Given the description of an element on the screen output the (x, y) to click on. 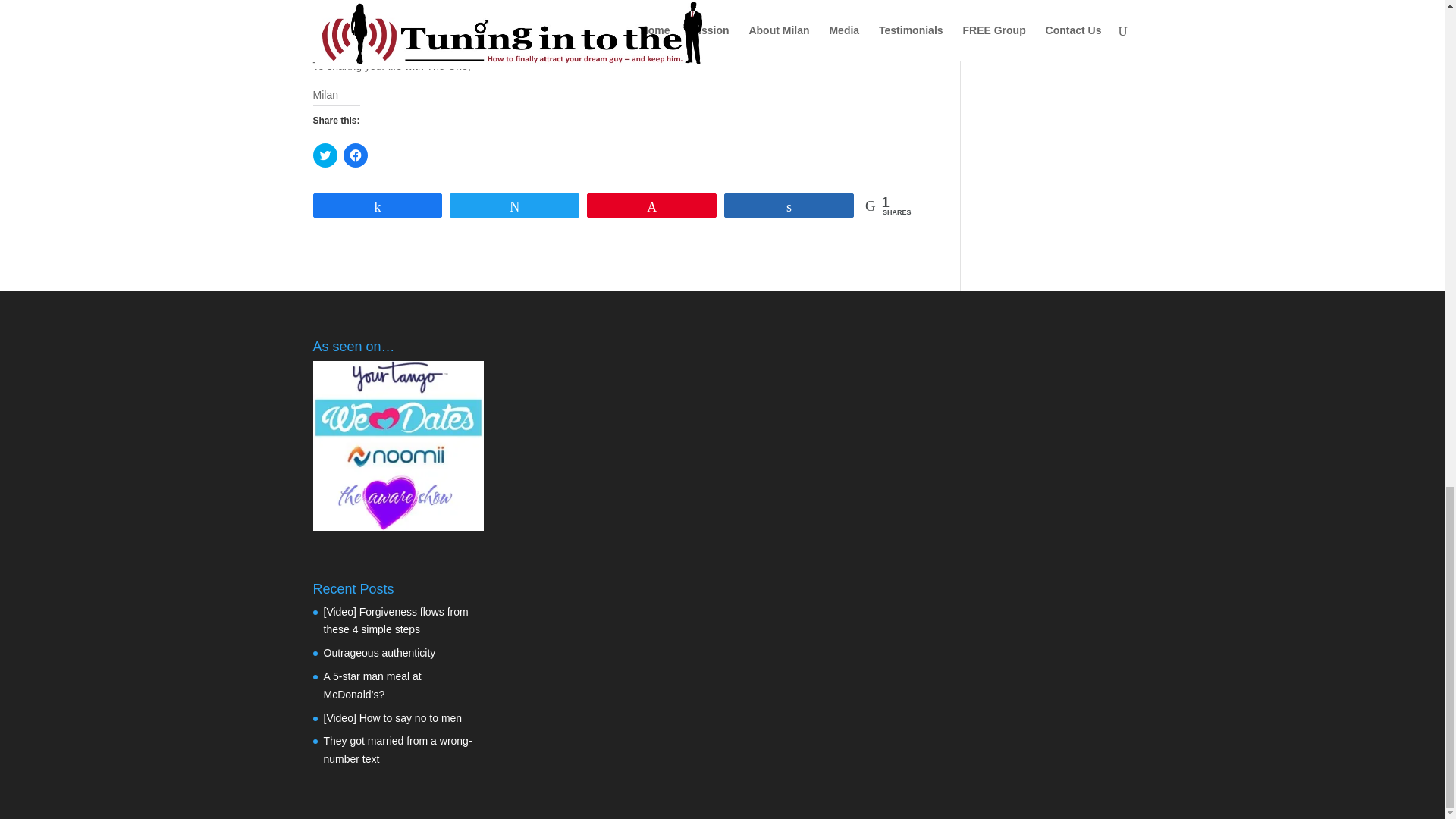
Click to share on Facebook (354, 155)
Outrageous authenticity (379, 653)
They got married from a wrong-number text (397, 749)
Soulmate Attraction Blueprint Session (590, 7)
Click to share on Twitter (324, 155)
